Given the description of an element on the screen output the (x, y) to click on. 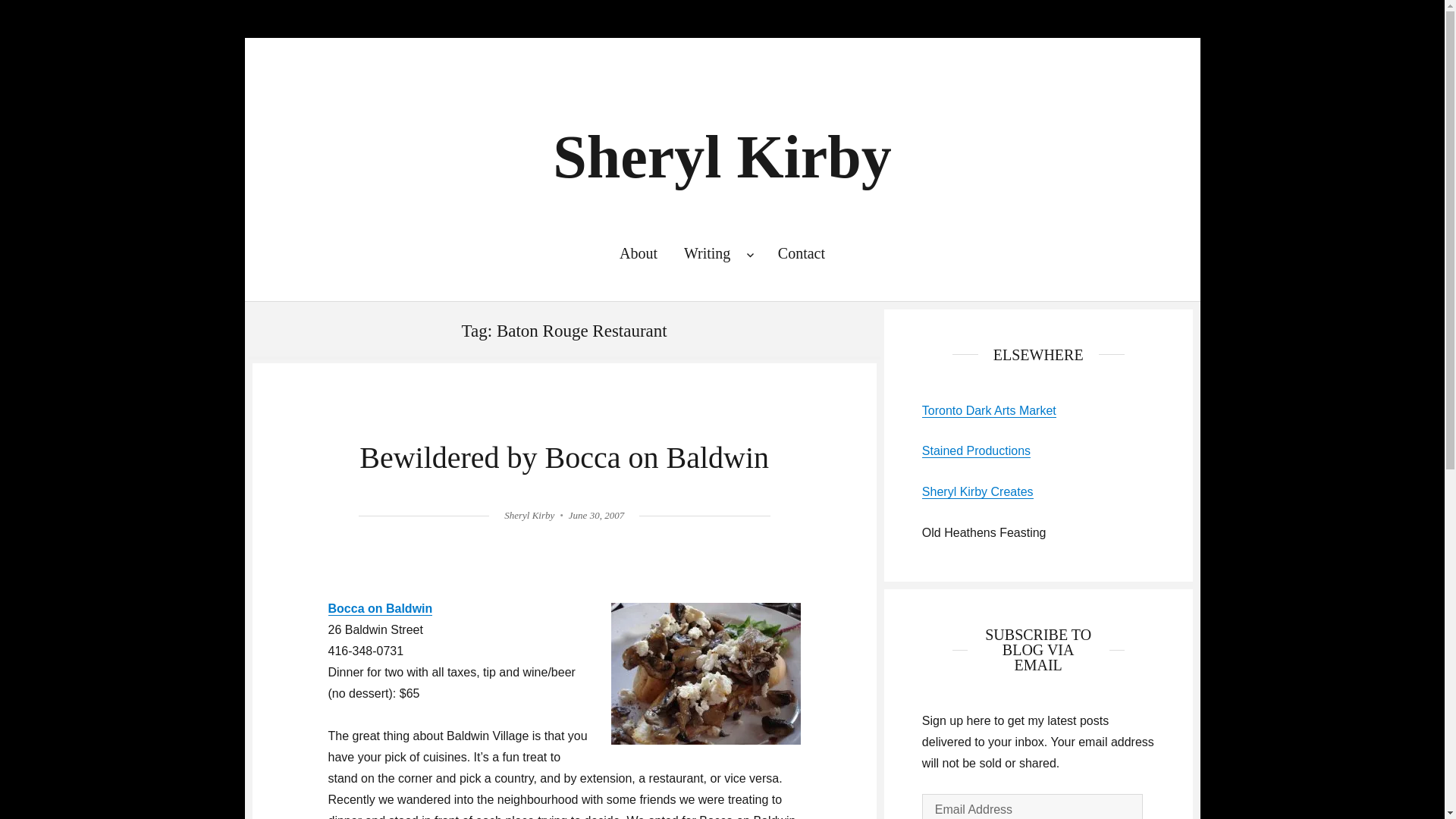
June 30, 2007 (596, 514)
Writing (716, 253)
Sheryl Kirby (528, 514)
Bewildered by Bocca on Baldwin (563, 457)
Stained Productions (975, 450)
Contact (801, 253)
Sheryl Kirby Creates (977, 491)
Sheryl Kirby (722, 156)
Bocca on Baldwin (379, 608)
Toronto Dark Arts Market (989, 409)
